Given the description of an element on the screen output the (x, y) to click on. 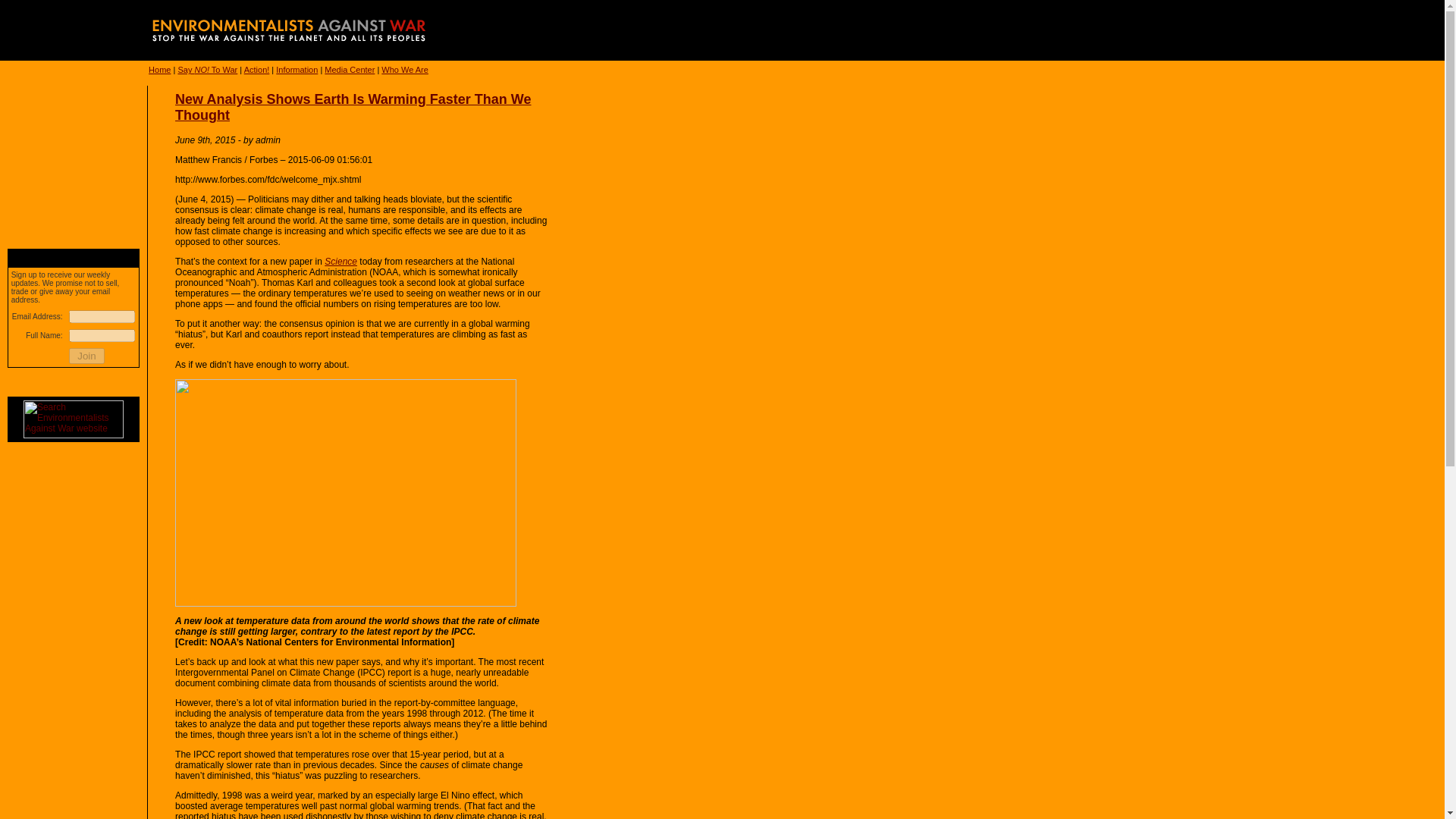
Science (340, 261)
New Analysis Shows Earth Is Warming Faster Than We Thought (352, 106)
Say NO! To War (207, 69)
 Join  (86, 355)
Information (296, 69)
Action! (256, 69)
Home (159, 69)
Media Center (349, 69)
Who We Are (404, 69)
 Join  (86, 355)
